Given the description of an element on the screen output the (x, y) to click on. 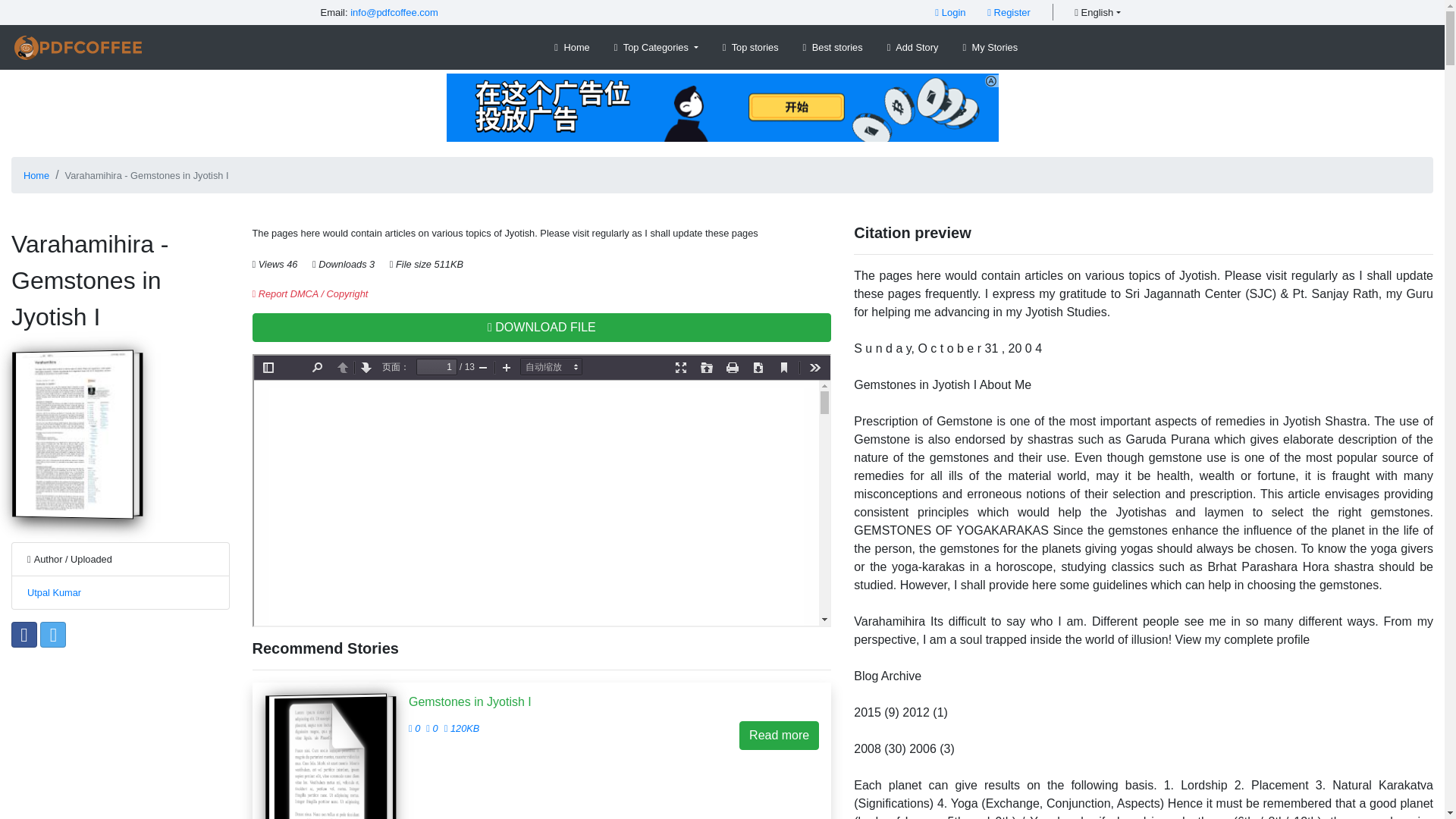
Home (36, 174)
Home (571, 47)
Utpal Kumar (54, 592)
My Stories (989, 47)
Top stories (750, 47)
Top Categories (656, 47)
DOWNLOAD FILE (541, 327)
Register (1008, 12)
Add Story (912, 47)
Best stories (832, 47)
